Given the description of an element on the screen output the (x, y) to click on. 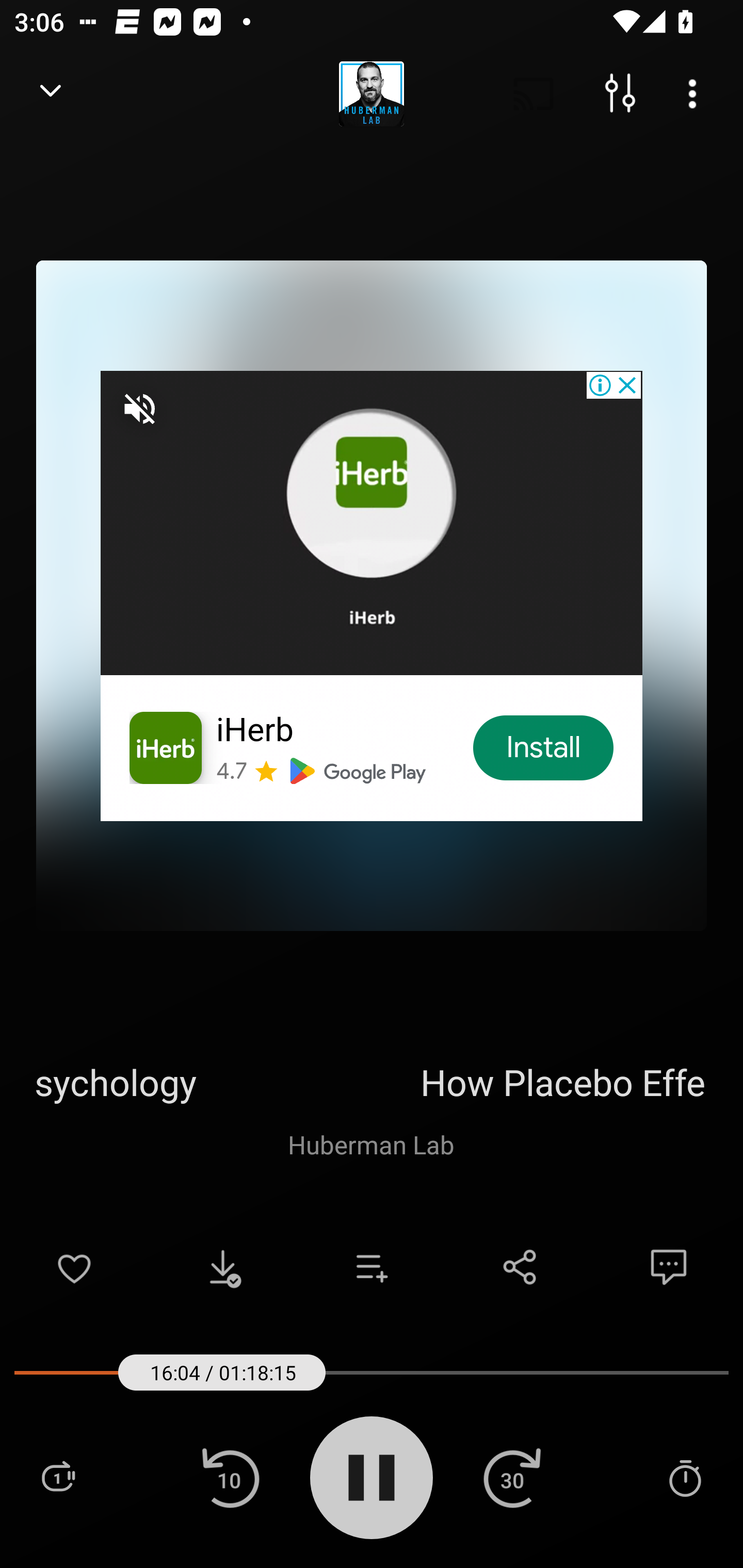
Cast. Disconnected (533, 93)
 Back (50, 94)
iHerb 4.7 Install Install (371, 595)
悟空在線… Pre-register Pre-register (371, 595)
Pre-register (512, 747)
Install (543, 747)
Huberman Lab (370, 1144)
Comments (668, 1266)
Add to Favorites (73, 1266)
Add to playlist (371, 1266)
Share (519, 1266)
 Playlist (57, 1477)
Sleep Timer  (684, 1477)
